Given the description of an element on the screen output the (x, y) to click on. 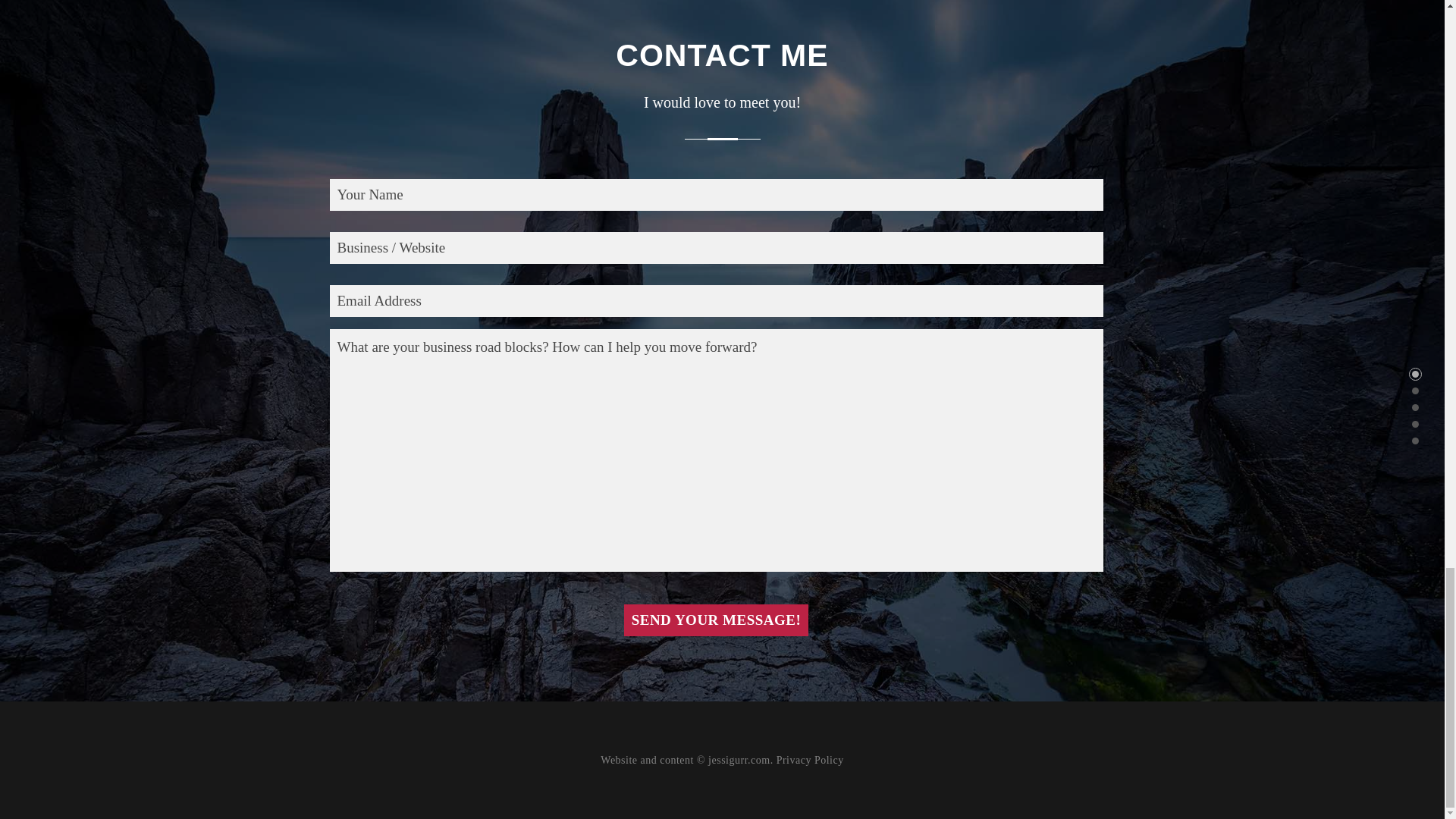
Privacy Policy (810, 759)
jessigurr.com (738, 759)
Send your message! (716, 620)
Send your message! (716, 620)
